Given the description of an element on the screen output the (x, y) to click on. 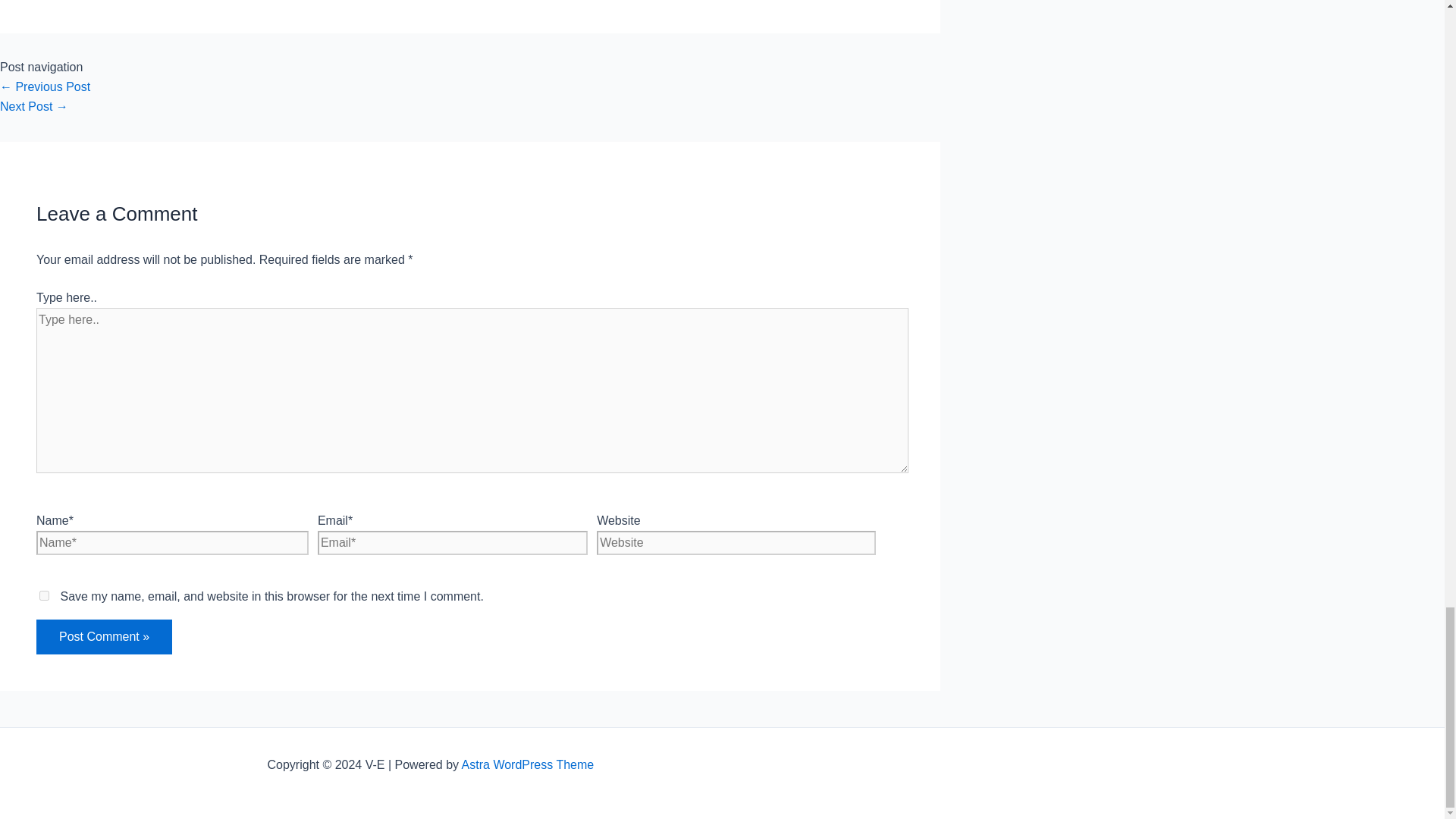
Medium Length Hairstyles With Bangs Fine Hair 2021 (45, 86)
Crochet Braids Hairstyles Faux Locs 2021 (34, 106)
Astra WordPress Theme (527, 764)
yes (44, 595)
